Given the description of an element on the screen output the (x, y) to click on. 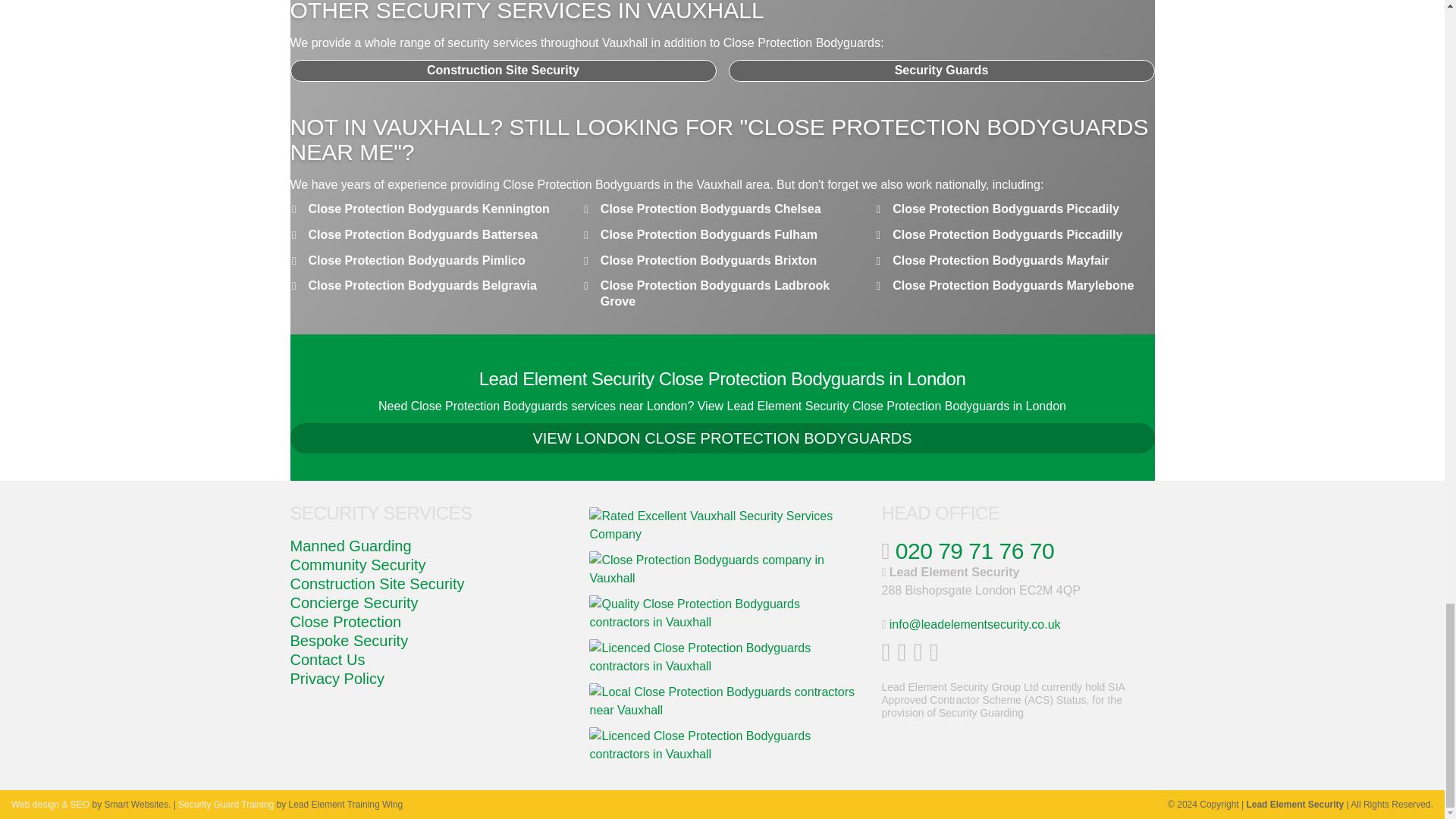
Visit the Smart Numbers Website (49, 804)
SIA Approved (721, 613)
Visit the Lead Element Training Wing Ltd (225, 804)
